Given the description of an element on the screen output the (x, y) to click on. 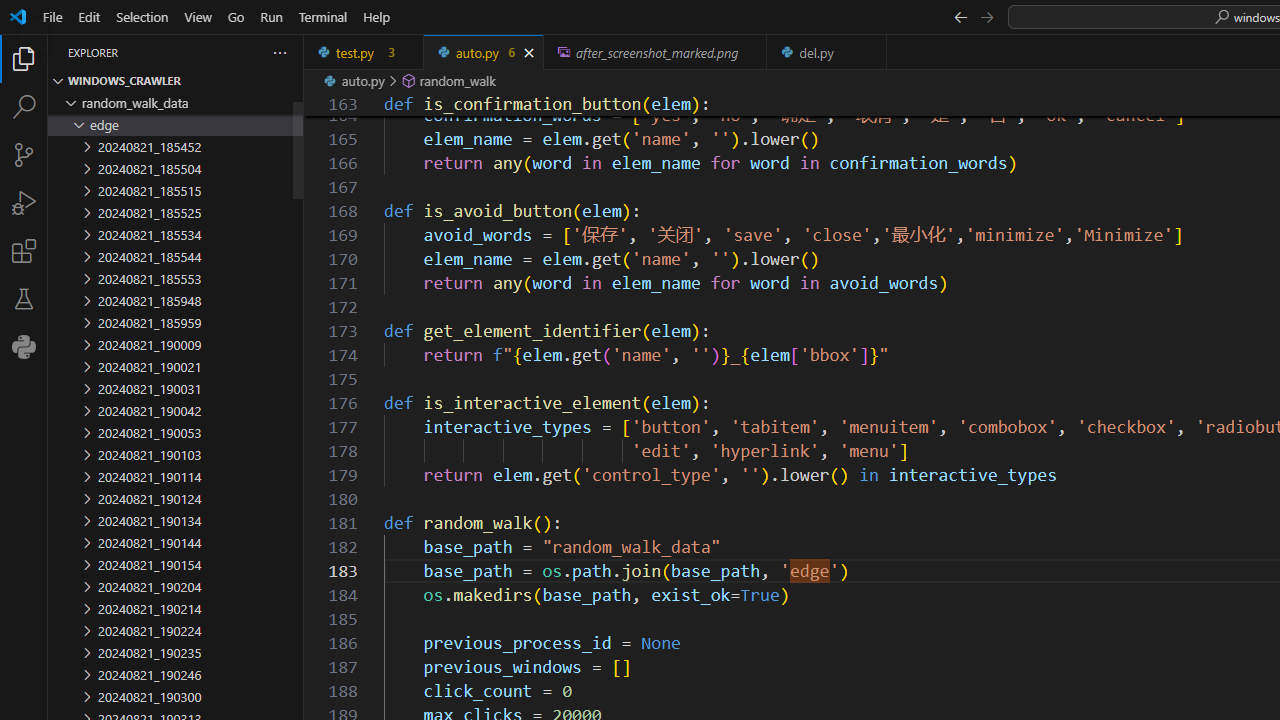
Extensions (Ctrl+Shift+X) (24, 250)
File (52, 16)
test.py (363, 52)
Tab actions (872, 52)
Close (Ctrl+F4) (872, 52)
View (198, 16)
Testing (24, 299)
after_screenshot_marked.png, preview (656, 52)
Explorer (Ctrl+Shift+E) (24, 58)
Search (Ctrl+Shift+F) (24, 106)
Explorer Section: windows_crawler (175, 80)
Terminal (322, 16)
